Given the description of an element on the screen output the (x, y) to click on. 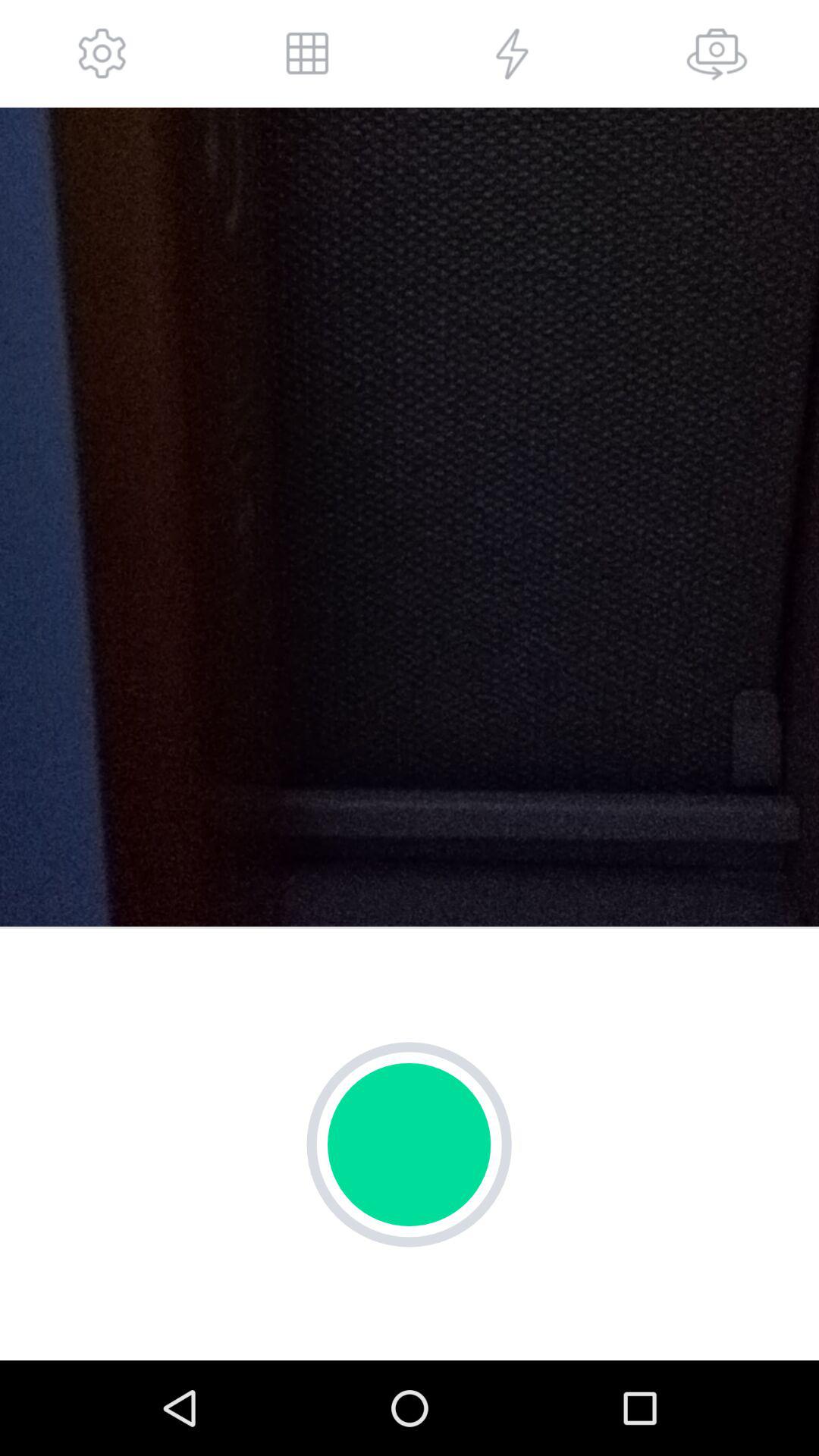
take picture (716, 53)
